Given the description of an element on the screen output the (x, y) to click on. 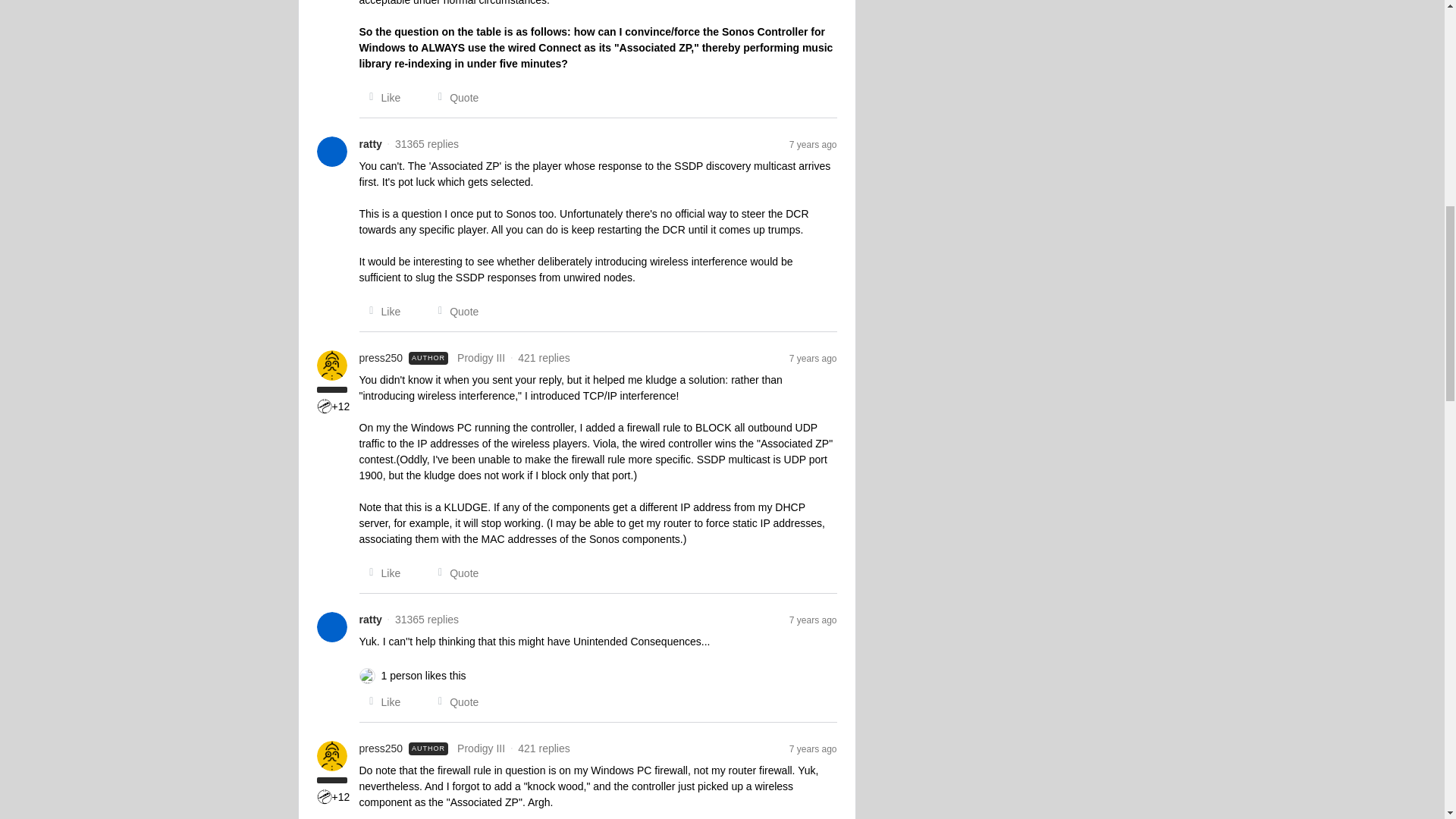
Amping it up III (324, 796)
press250 (381, 358)
ratty (370, 144)
Amping it up III (324, 406)
ratty (370, 619)
press250 (381, 748)
